Given the description of an element on the screen output the (x, y) to click on. 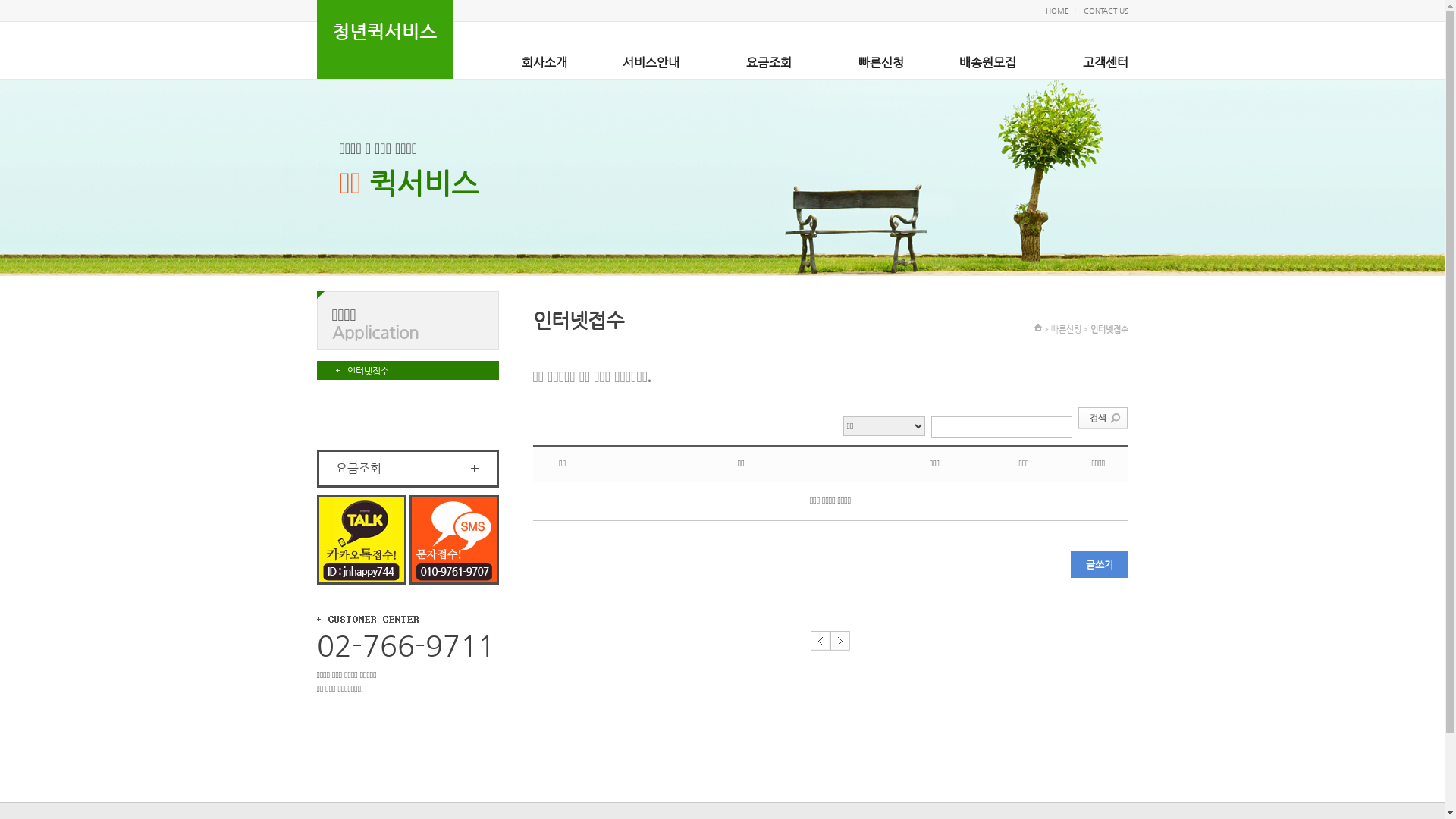
CONTACT US Element type: text (1104, 10)
